Given the description of an element on the screen output the (x, y) to click on. 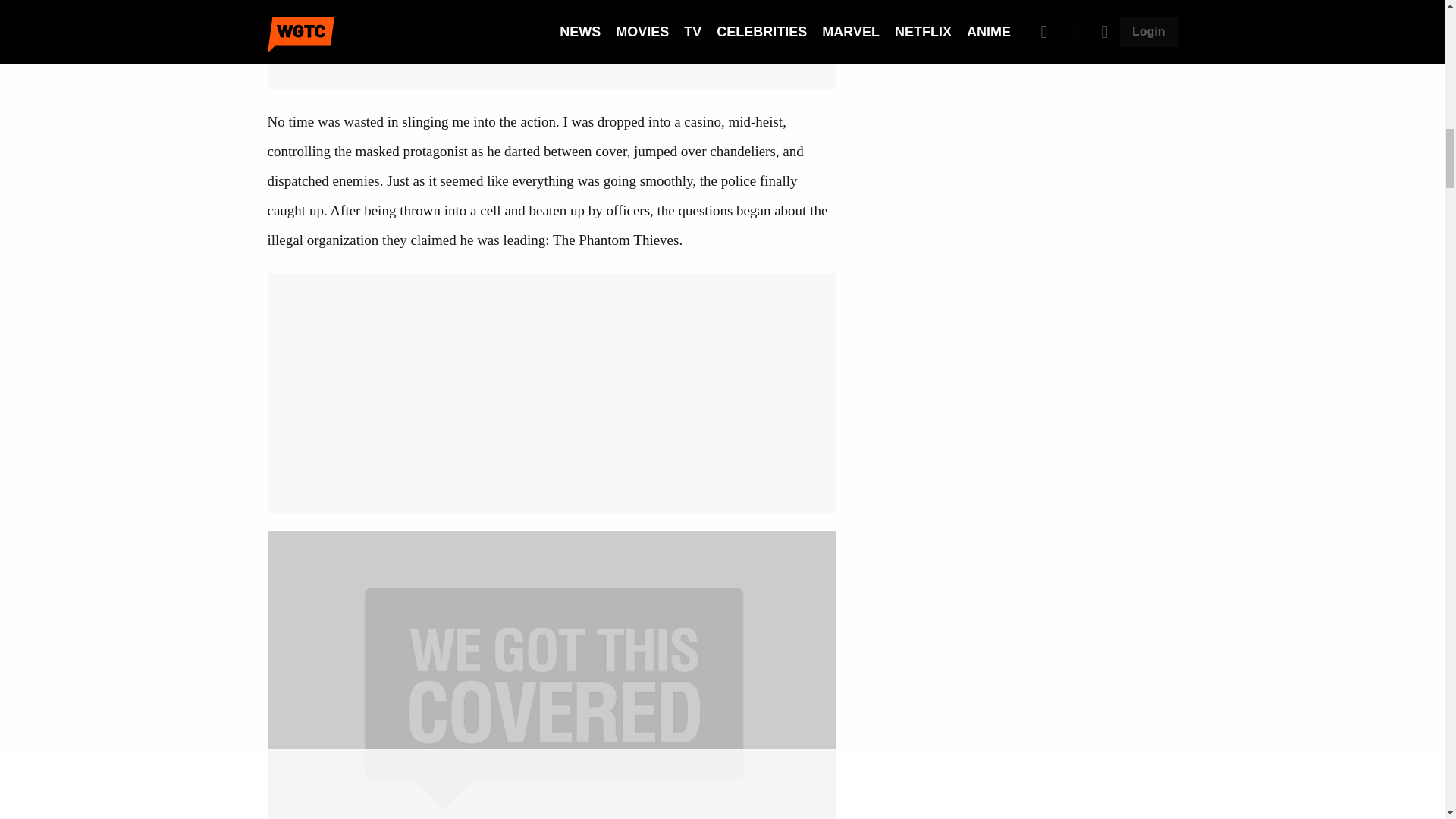
3rd party ad content (1024, 99)
